Given the description of an element on the screen output the (x, y) to click on. 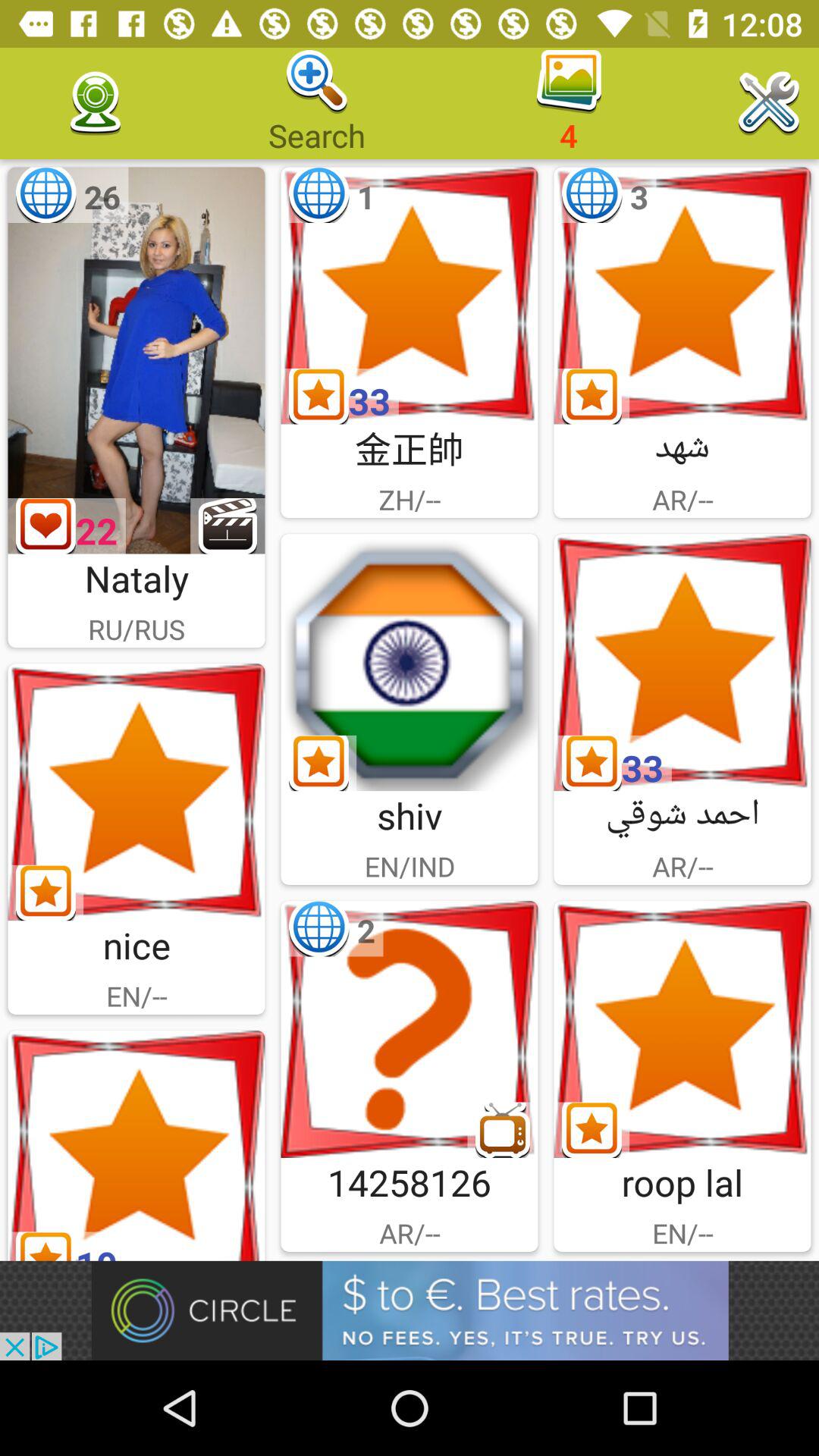
open picture (136, 791)
